Given the description of an element on the screen output the (x, y) to click on. 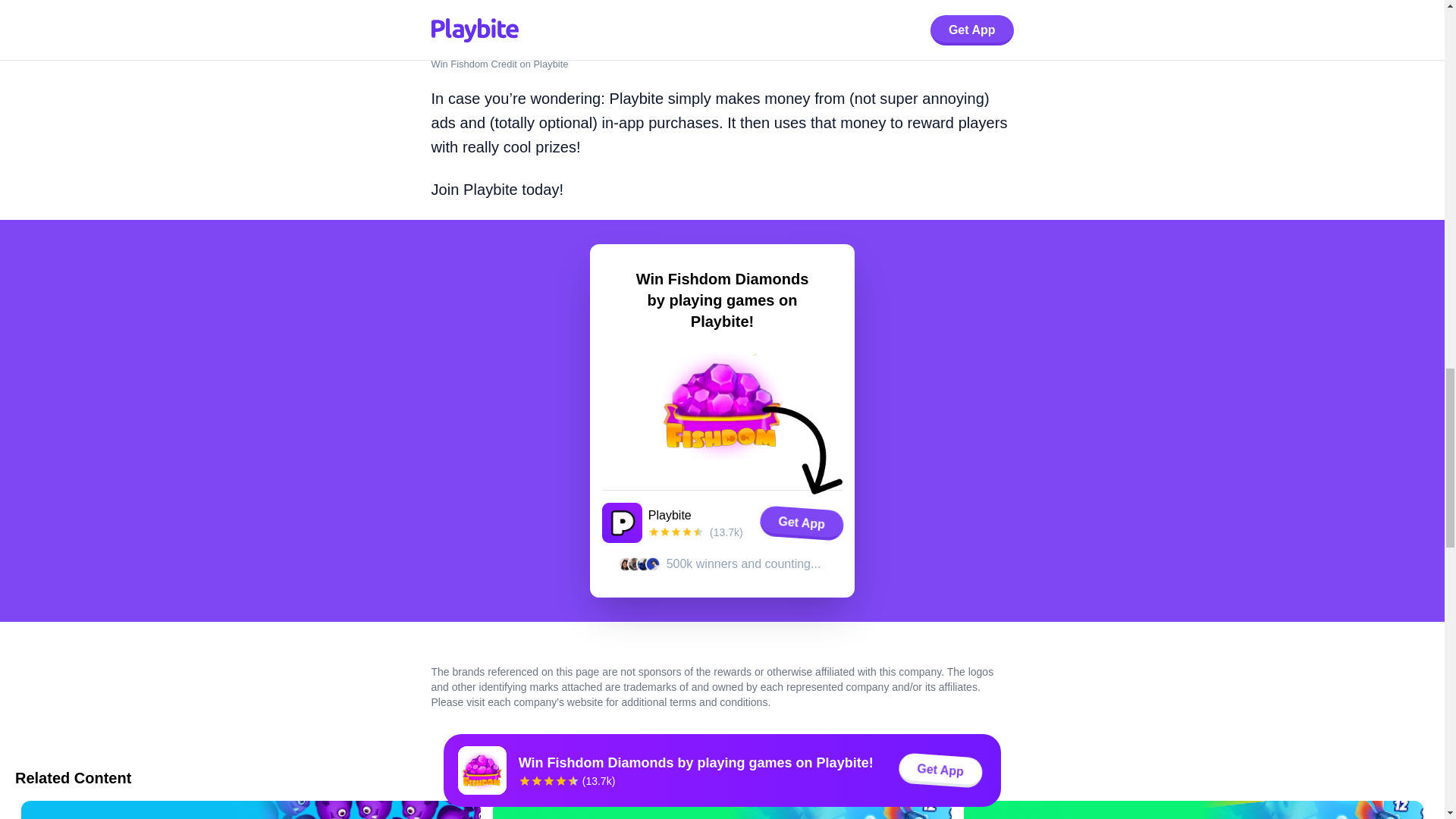
Get App (800, 522)
Why Can't I Play the Fishdom Games as Advertised? (1193, 809)
Join Playbite (473, 189)
Get App (800, 522)
Is Fishdom Available on PC? (250, 809)
How Do You Earn Gold Vouchers on Fishdom? (722, 809)
